Given the description of an element on the screen output the (x, y) to click on. 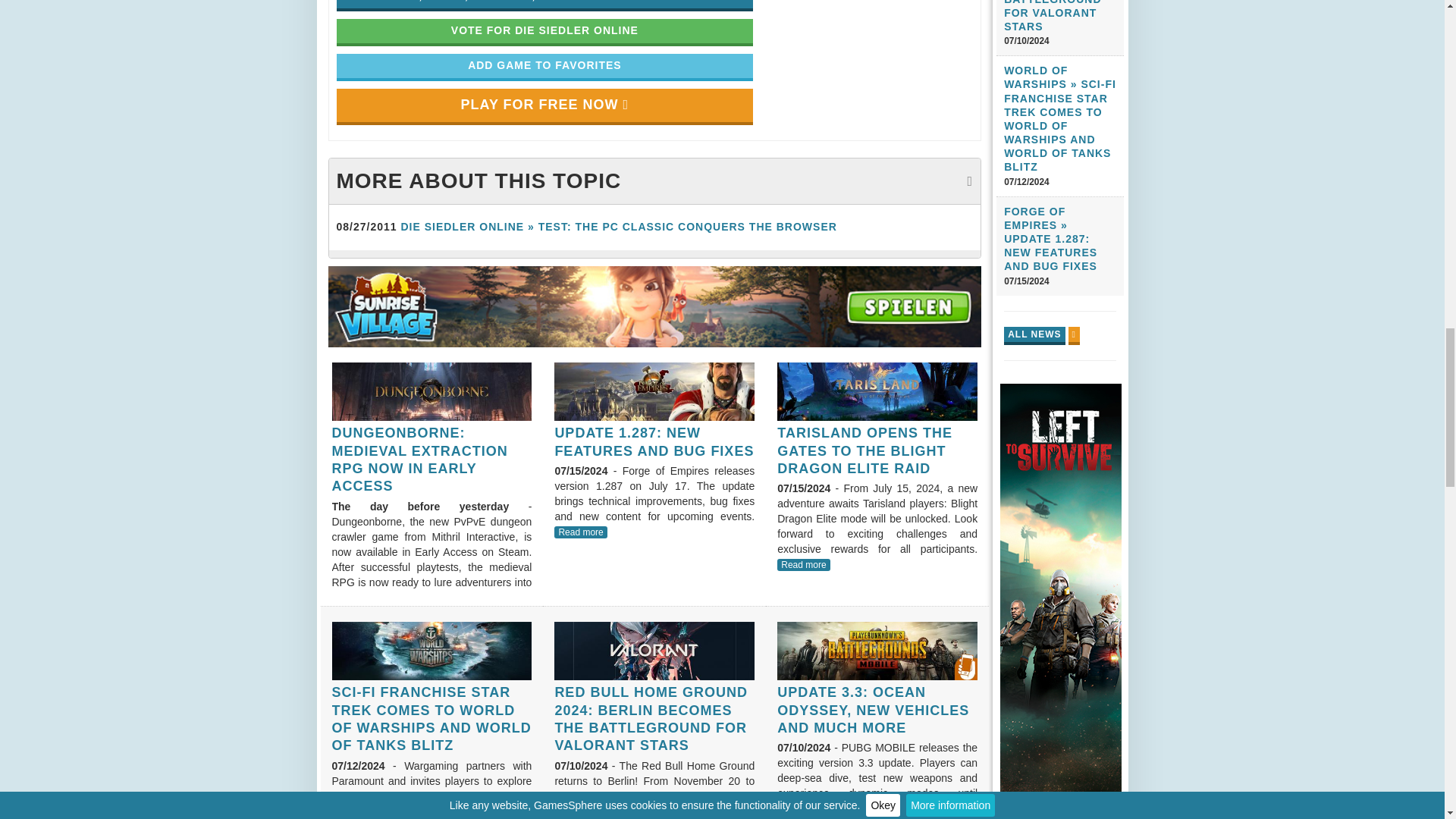
Dungeonborne (431, 391)
VALORANT (654, 650)
Tarisland (876, 391)
PUBG: Mobile (876, 650)
Forge of Empires (654, 391)
World of Warships (431, 650)
